Given the description of an element on the screen output the (x, y) to click on. 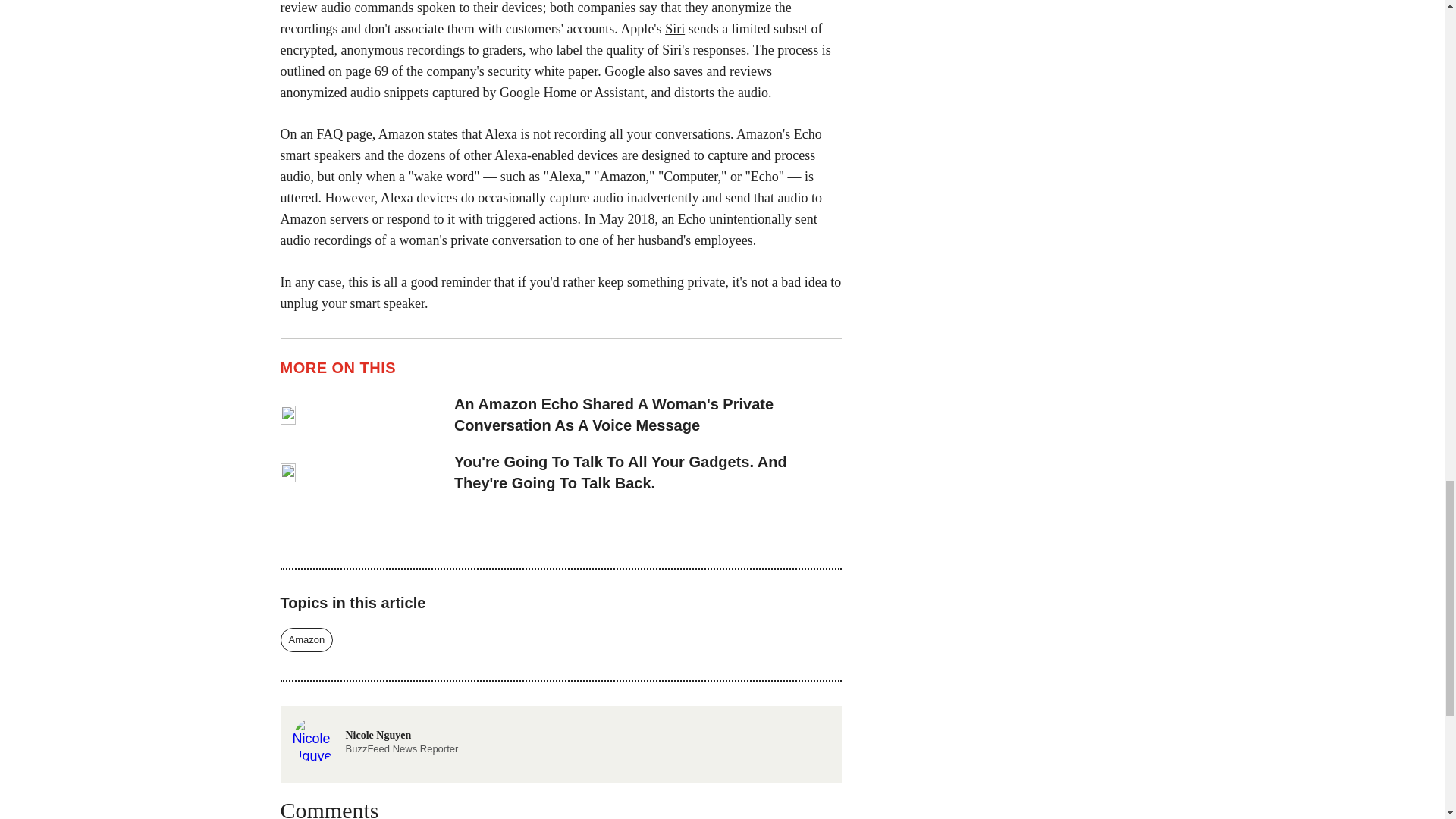
Siri (674, 28)
not recording all your conversations (631, 133)
Echo (807, 133)
saves and reviews (375, 738)
audio recordings of a woman's private conversation (721, 70)
Amazon (421, 240)
security white paper (307, 639)
